Given the description of an element on the screen output the (x, y) to click on. 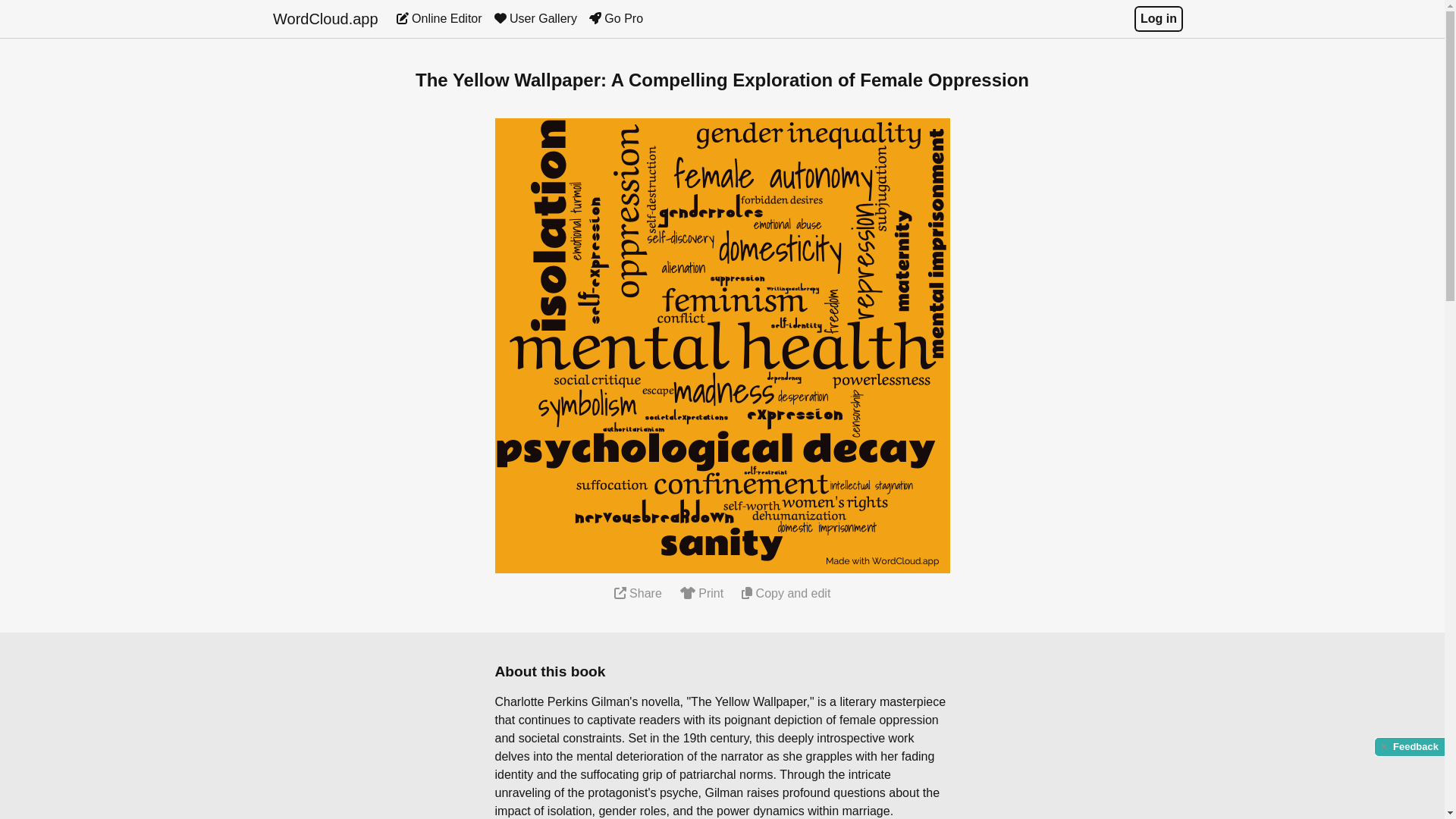
Share (638, 593)
Dashboard (438, 18)
Explore User-Created Word Clouds (535, 18)
Online Editor (438, 18)
Home (325, 18)
WordCloud.app (325, 18)
Go Pro (616, 18)
User Gallery (535, 18)
Print (701, 593)
Log in (1158, 18)
Copy and edit (785, 593)
